Given the description of an element on the screen output the (x, y) to click on. 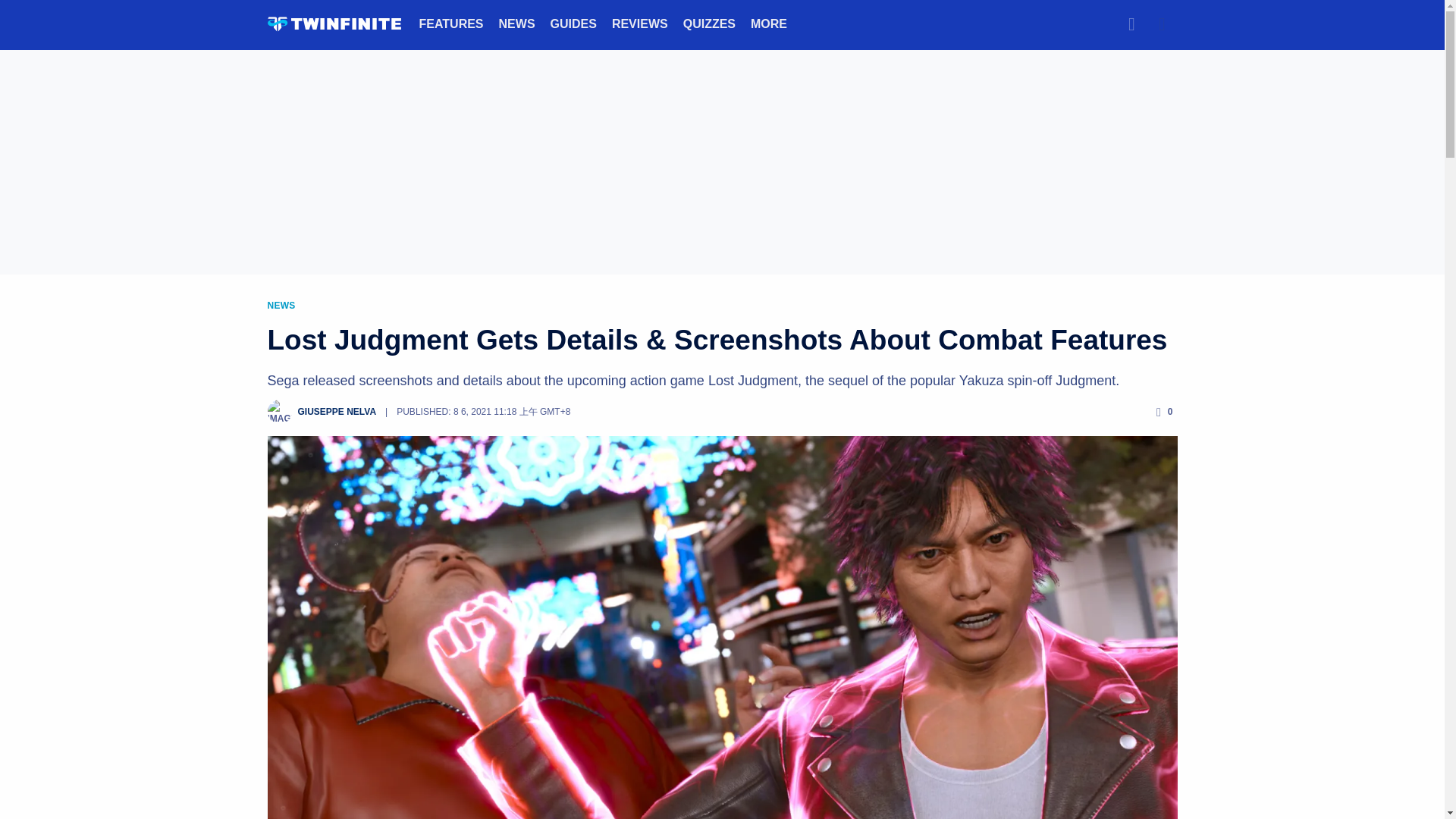
FEATURES (451, 23)
GUIDES (573, 23)
Search (1131, 24)
QUIZZES (708, 23)
NEWS (517, 23)
REVIEWS (639, 23)
Dark Mode (1161, 24)
